Given the description of an element on the screen output the (x, y) to click on. 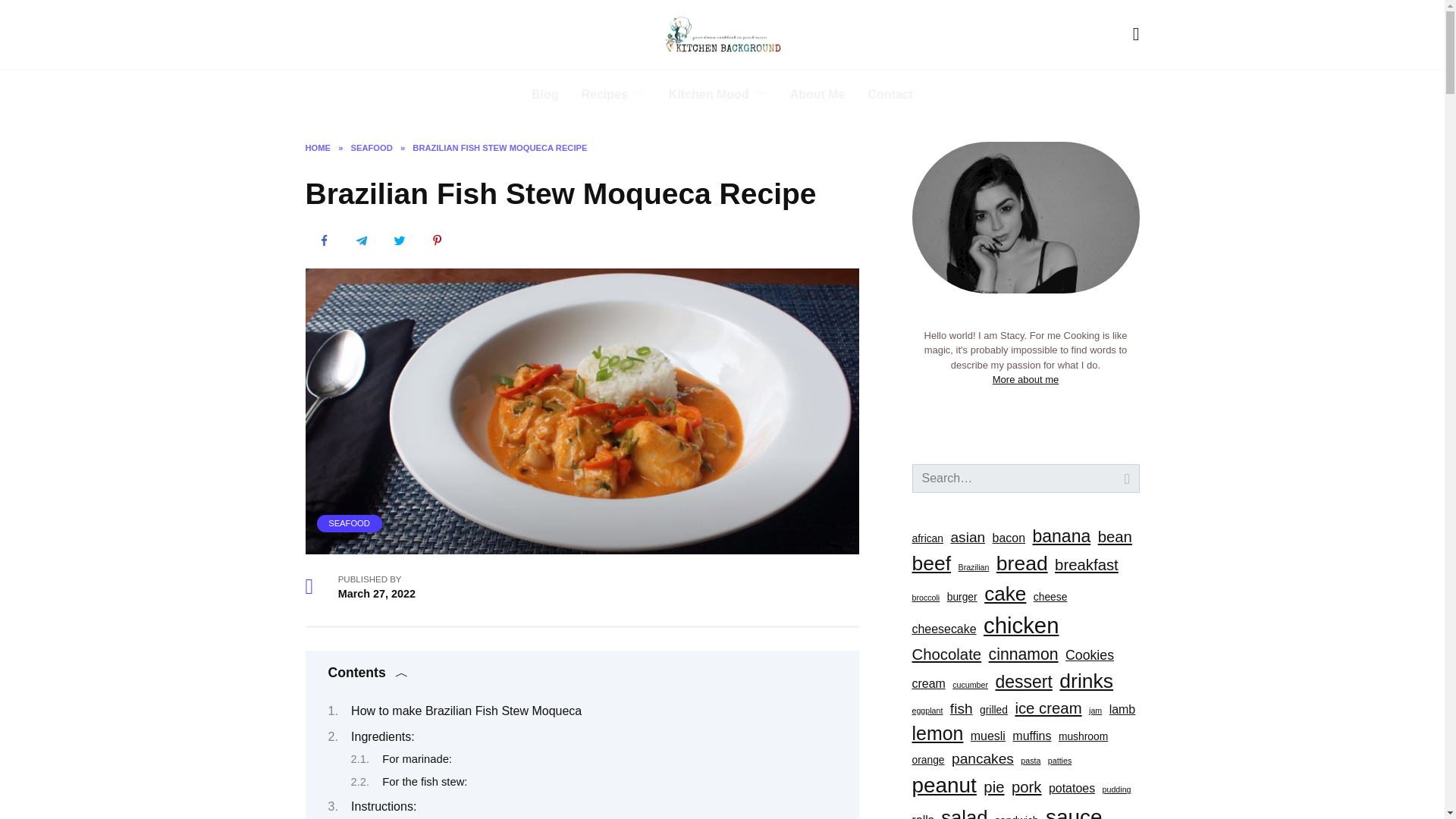
Kitchen Mood (718, 94)
Recipes (612, 94)
Contact (890, 94)
About Me (817, 94)
Blog (544, 94)
